Given the description of an element on the screen output the (x, y) to click on. 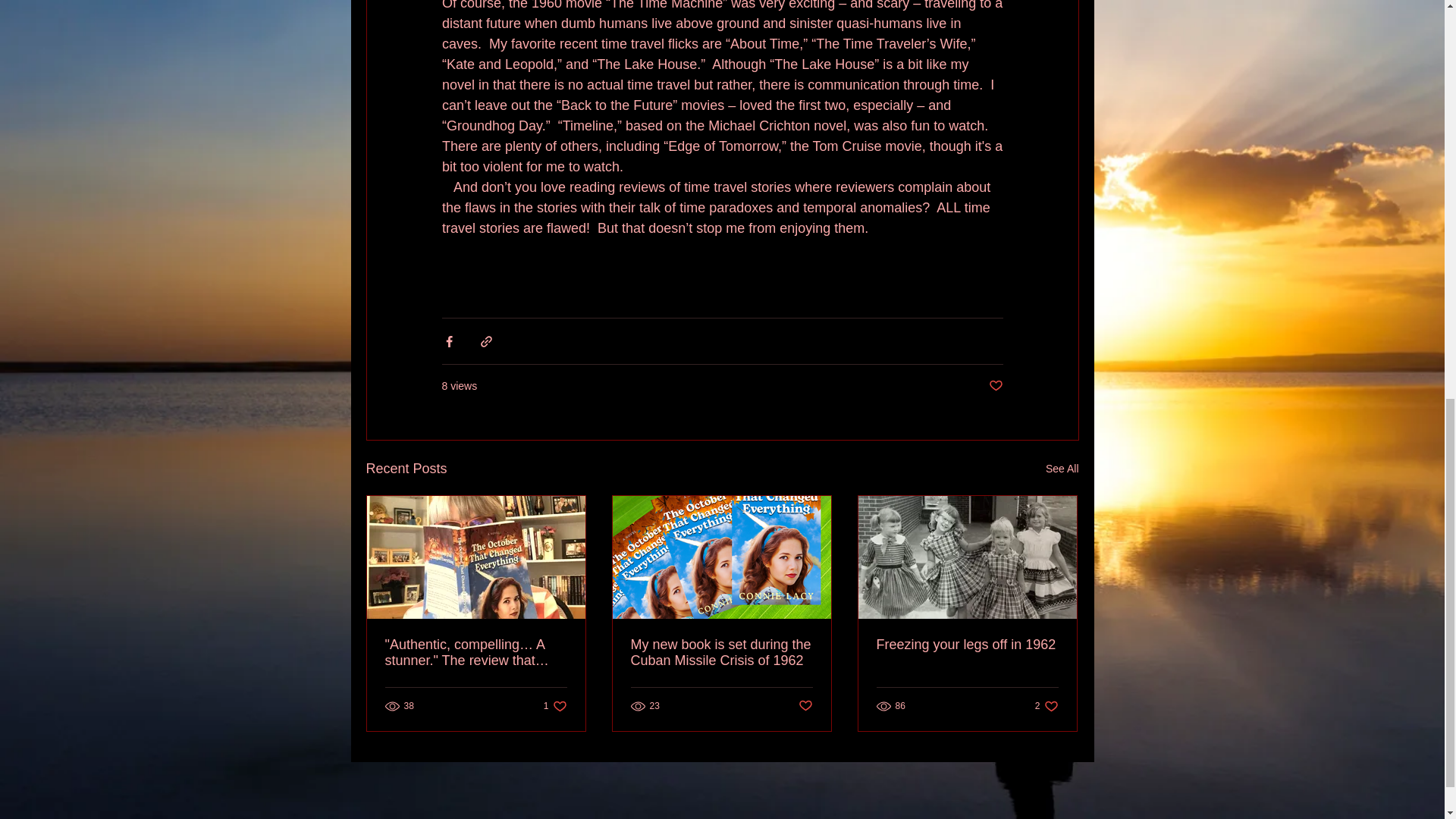
Freezing your legs off in 1962 (967, 644)
My new book is set during the Cuban Missile Crisis of 1962 (721, 653)
Post not marked as liked (804, 705)
Post not marked as liked (555, 706)
See All (995, 385)
